Given the description of an element on the screen output the (x, y) to click on. 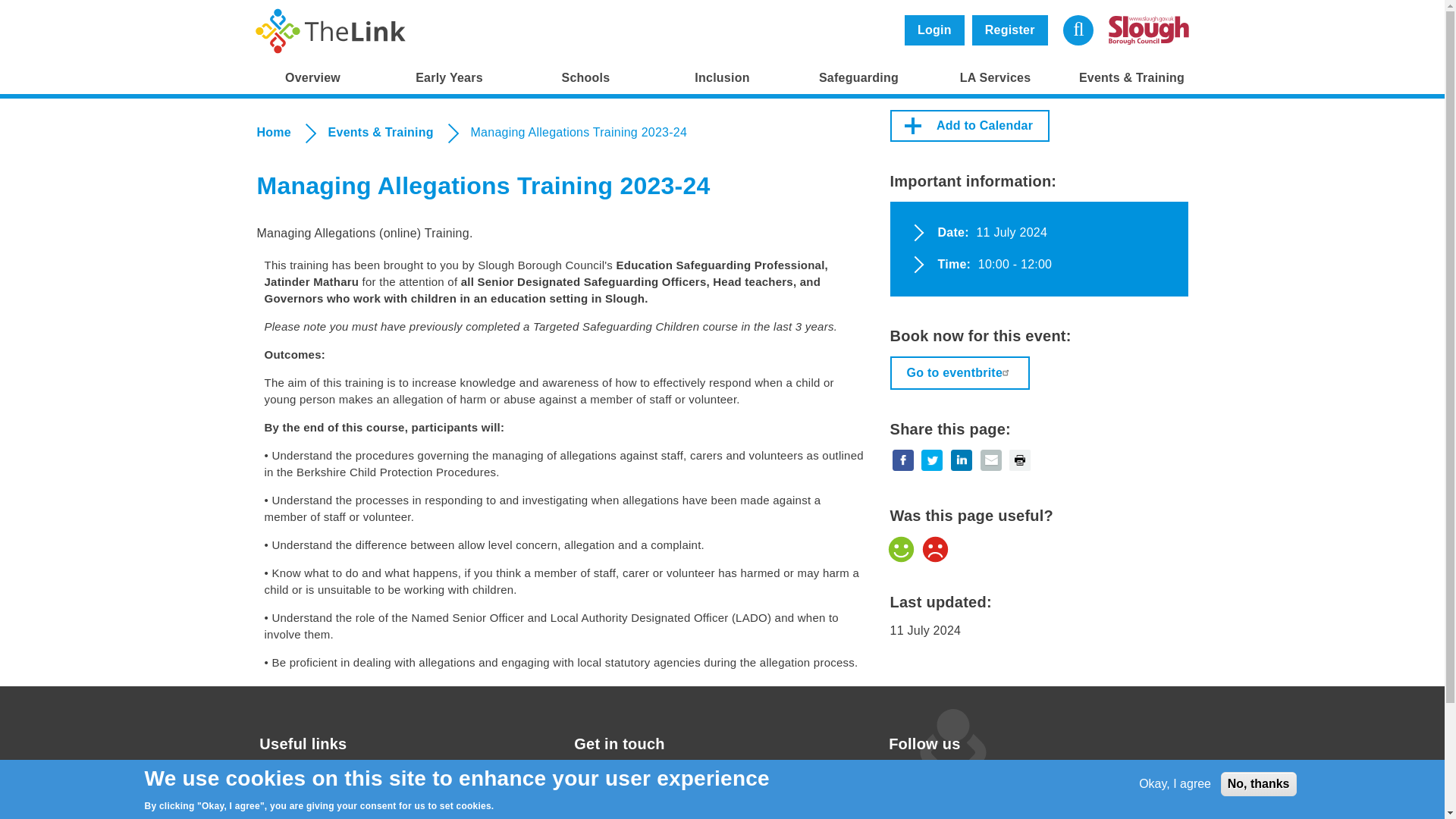
Overview (312, 78)
Register (1010, 30)
Login (933, 30)
Schools (584, 78)
Early Years (448, 78)
Home (330, 30)
Twitter (946, 783)
